Given the description of an element on the screen output the (x, y) to click on. 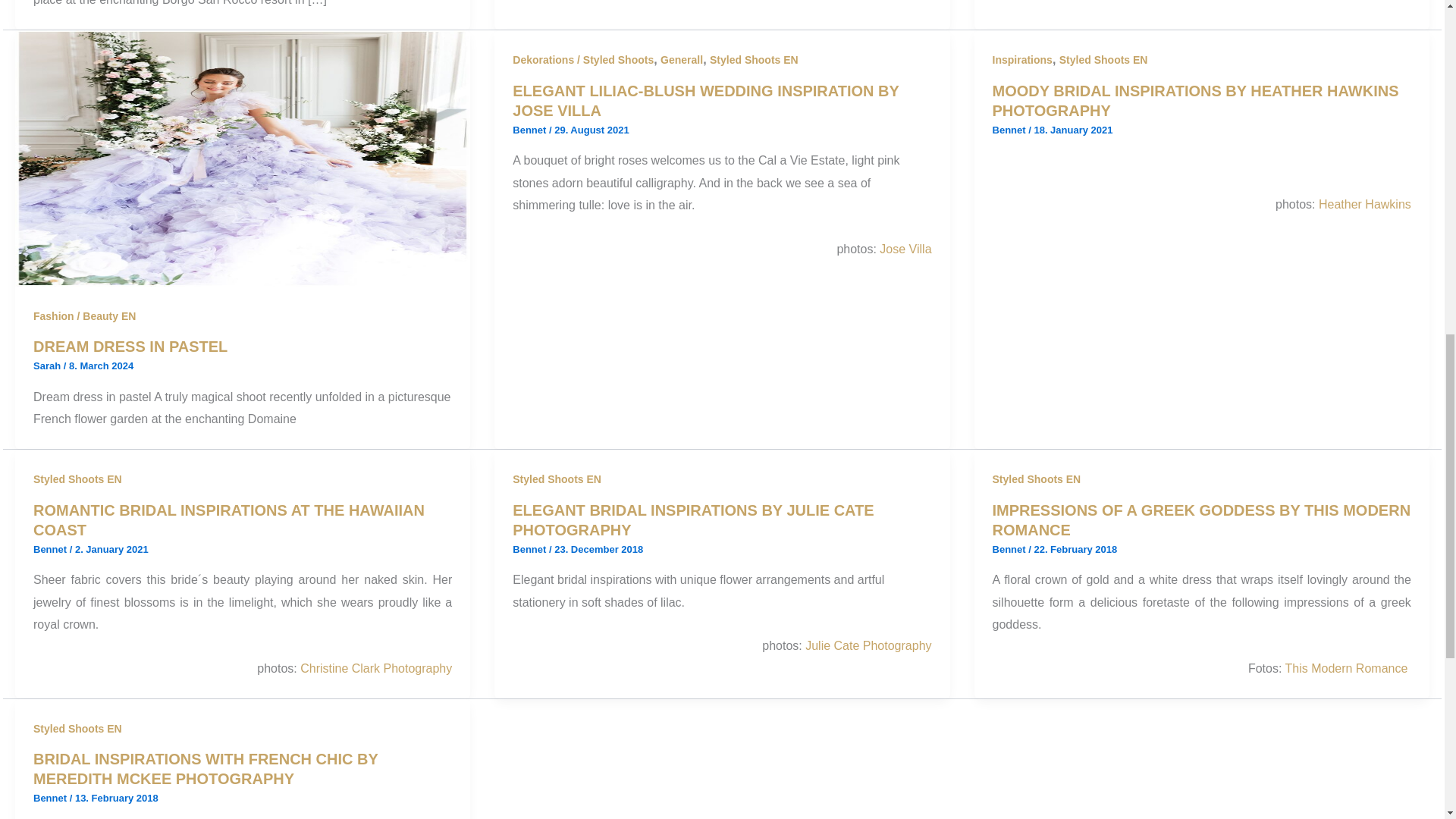
View all posts by Bennet (51, 549)
Jose Villa (905, 248)
View all posts by Sarah (48, 365)
View all posts by Bennet (1010, 129)
ELEGANT LILIAC-BLUSH WEDDING INSPIRATION BY JOSE VILLA (705, 100)
DREAM DRESS IN PASTEL (130, 346)
Bennet (530, 129)
View all posts by Bennet (1010, 549)
Inspirations (1022, 60)
Styled Shoots EN (753, 60)
